Given the description of an element on the screen output the (x, y) to click on. 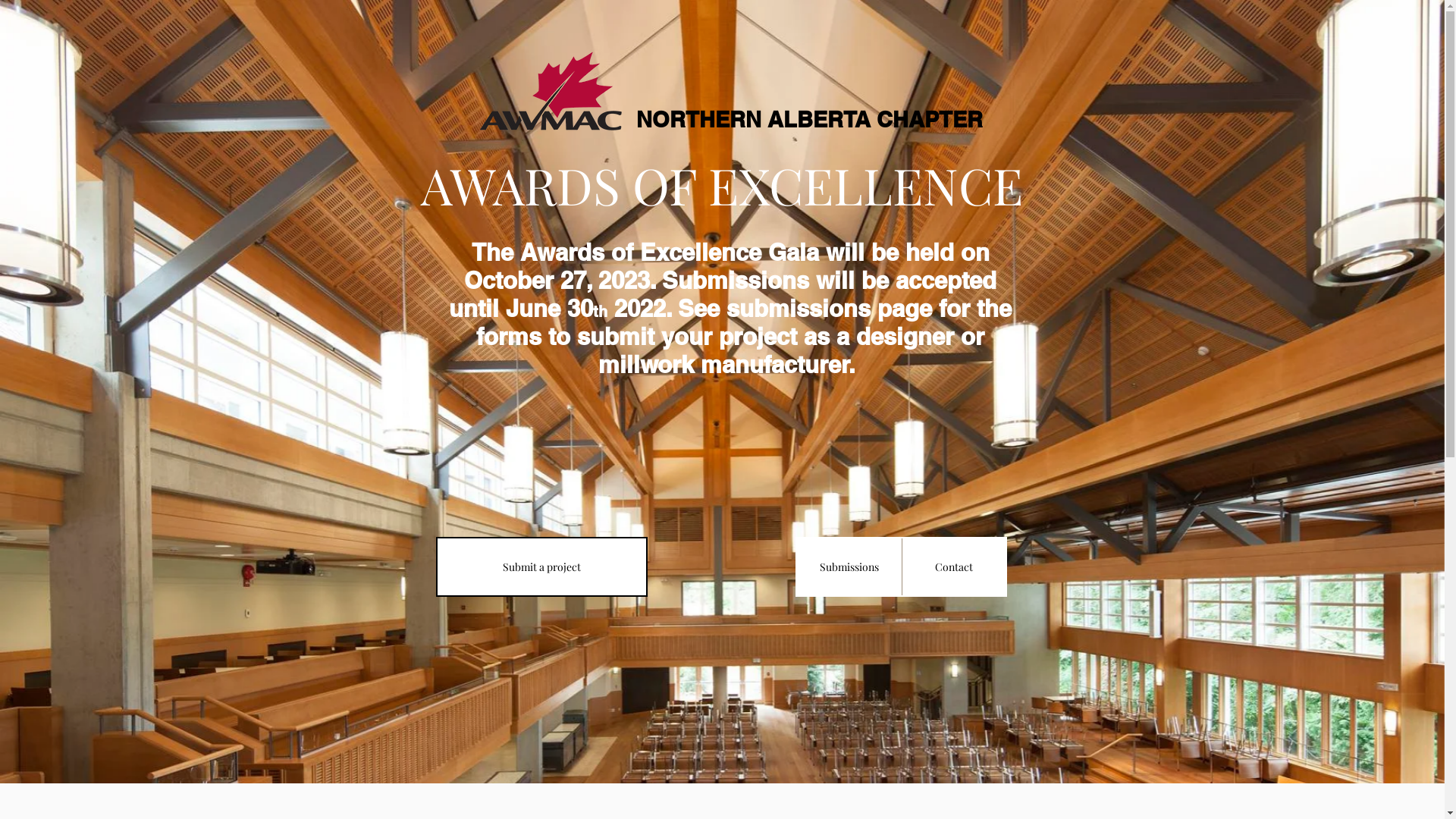
Contact Element type: text (952, 566)
Submit a project Element type: text (540, 566)
Submissions Element type: text (848, 566)
